Given the description of an element on the screen output the (x, y) to click on. 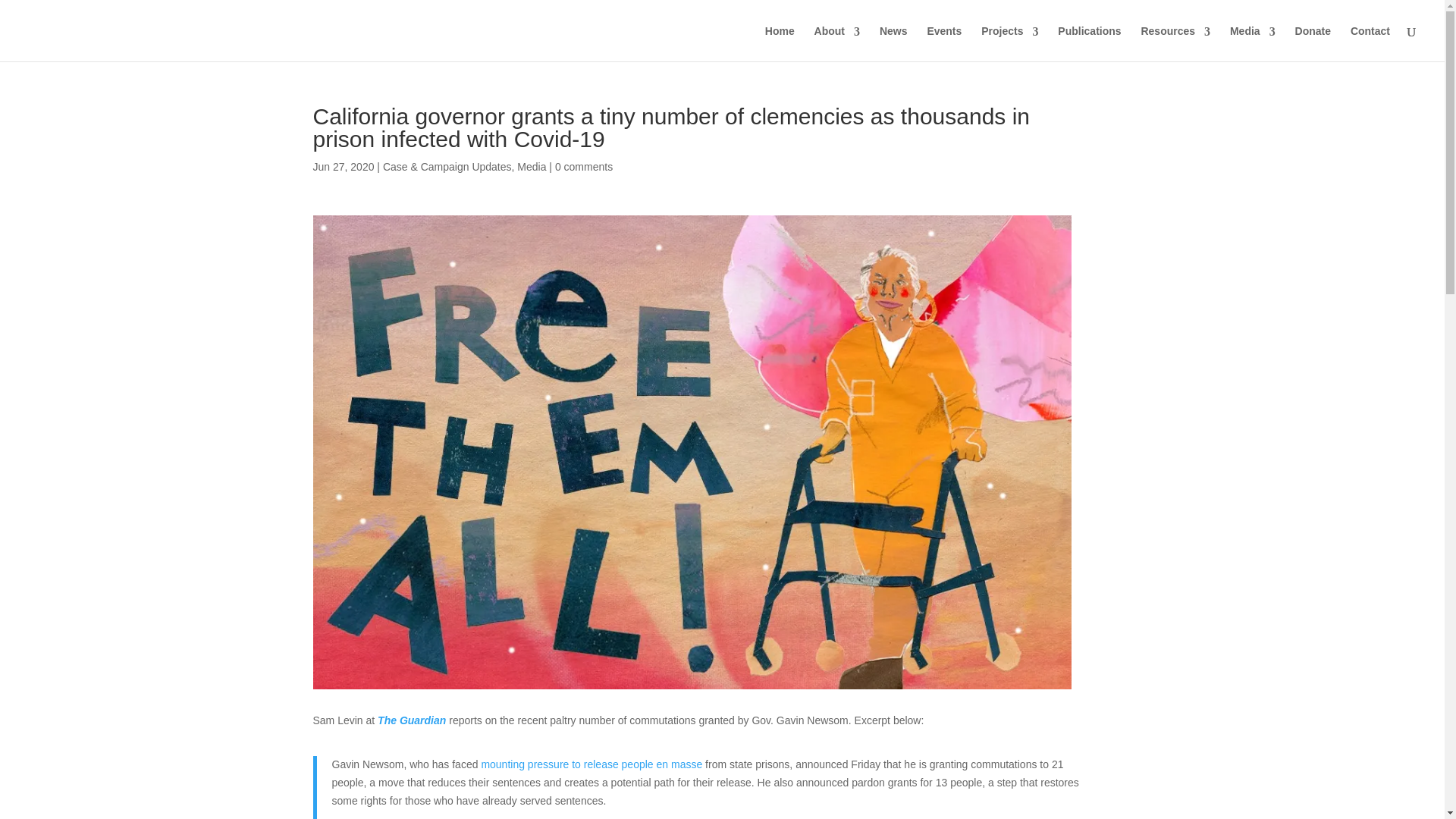
Projects (1009, 37)
Media (1252, 37)
About (836, 37)
Publications (1089, 37)
Resources (1174, 37)
